Given the description of an element on the screen output the (x, y) to click on. 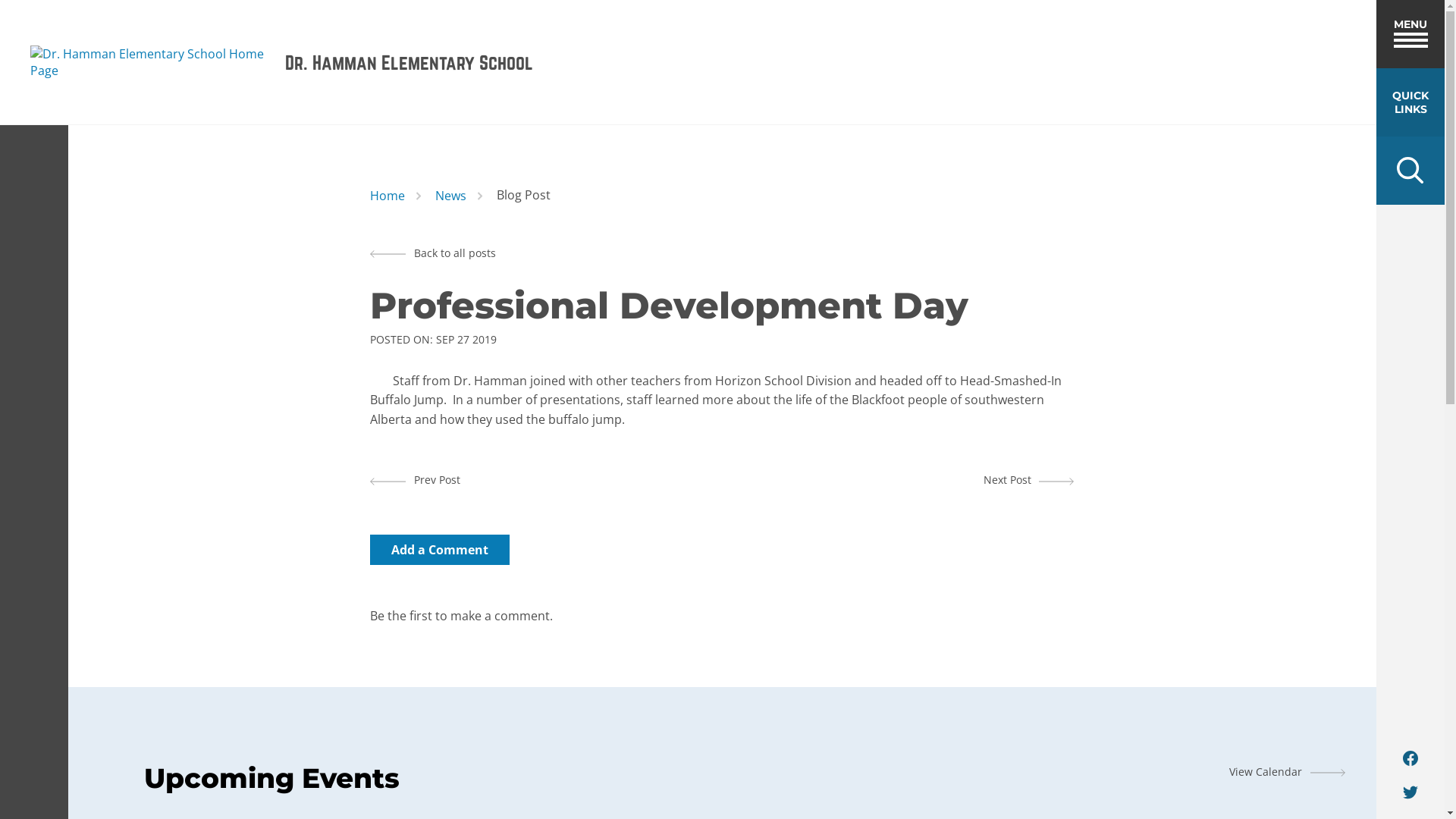
Prev Post Element type: text (415, 479)
View Calendar Element type: text (1287, 771)
MENU Element type: text (1410, 34)
QUICK LINKS Element type: text (1410, 102)
Twitter Element type: text (1410, 792)
Next Post Element type: text (1028, 479)
Back to all posts Element type: text (432, 253)
Facebook Element type: text (1410, 757)
home Element type: hover (151, 61)
Home Element type: text (387, 196)
News Element type: text (450, 196)
